Given the description of an element on the screen output the (x, y) to click on. 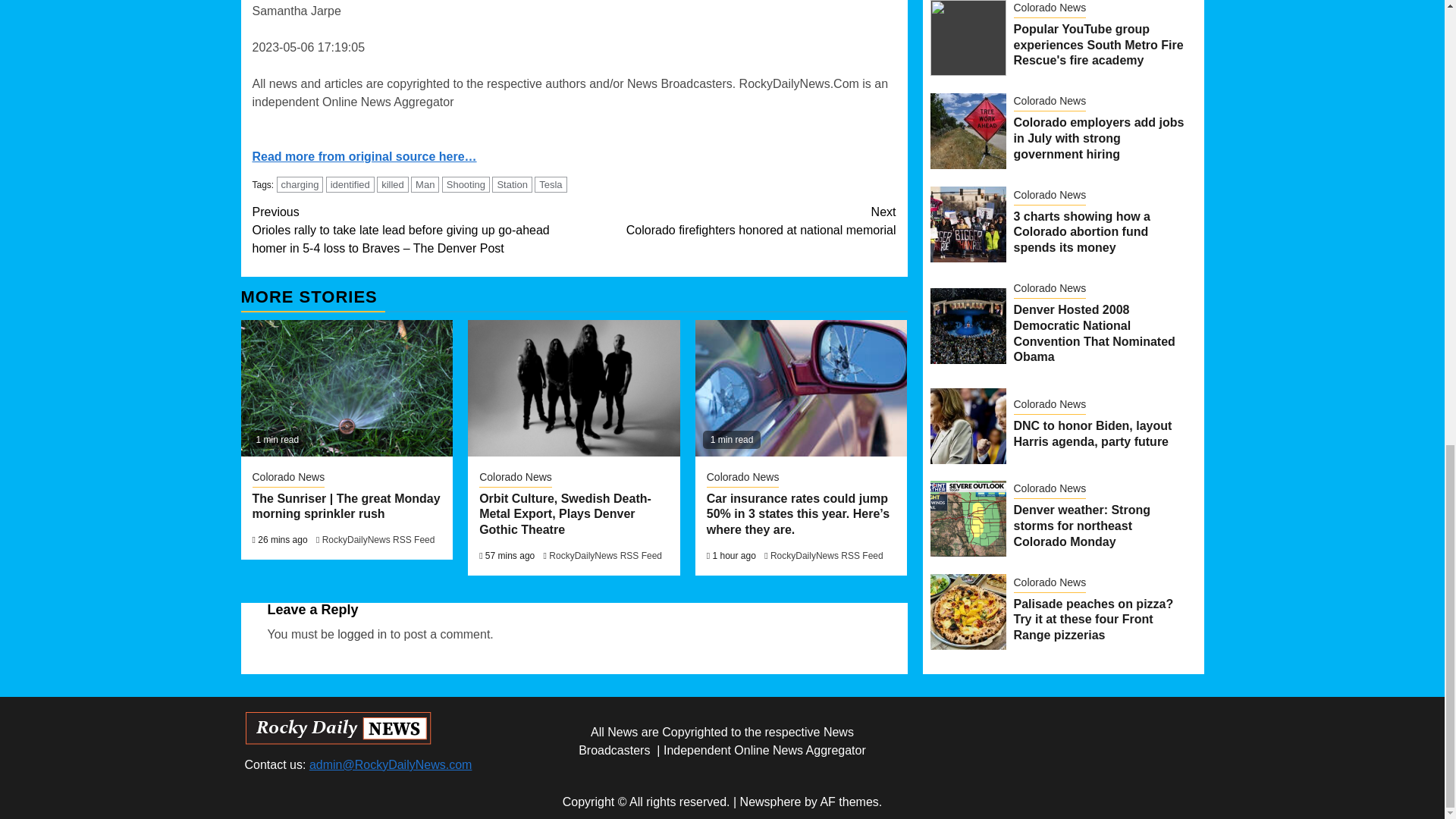
Man (424, 184)
Colorado News (742, 478)
charging (299, 184)
identified (350, 184)
logged in (362, 634)
RockyDailyNews RSS Feed (378, 539)
RockyDailyNews RSS Feed (826, 555)
Station (511, 184)
killed (393, 184)
